Given the description of an element on the screen output the (x, y) to click on. 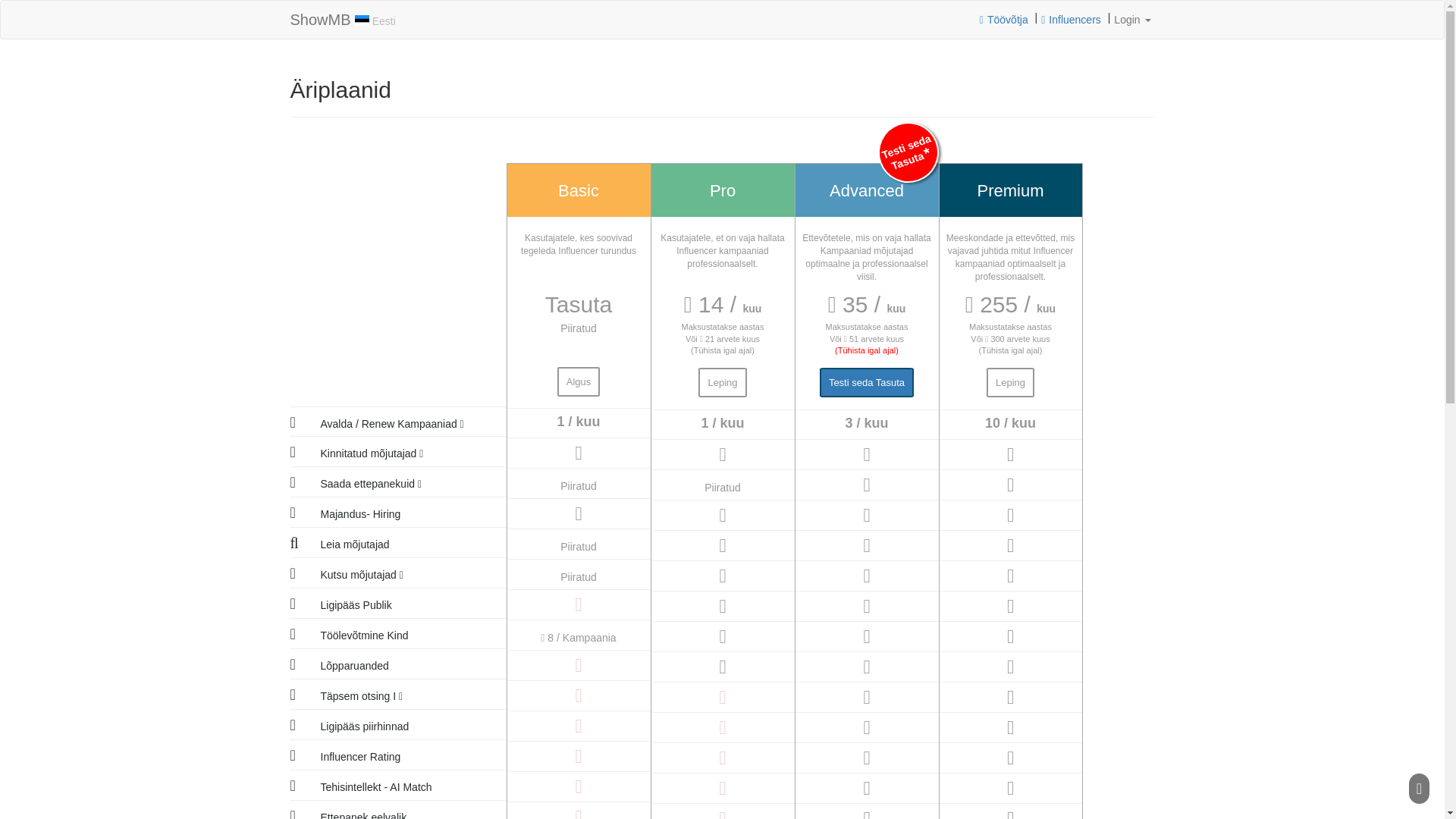
Leping (1010, 382)
Influencers  (1072, 19)
Testi seda Tasuta (866, 382)
ShowMB  Eesti (343, 19)
Login (1131, 19)
Algus (578, 381)
Leping (721, 382)
